Given the description of an element on the screen output the (x, y) to click on. 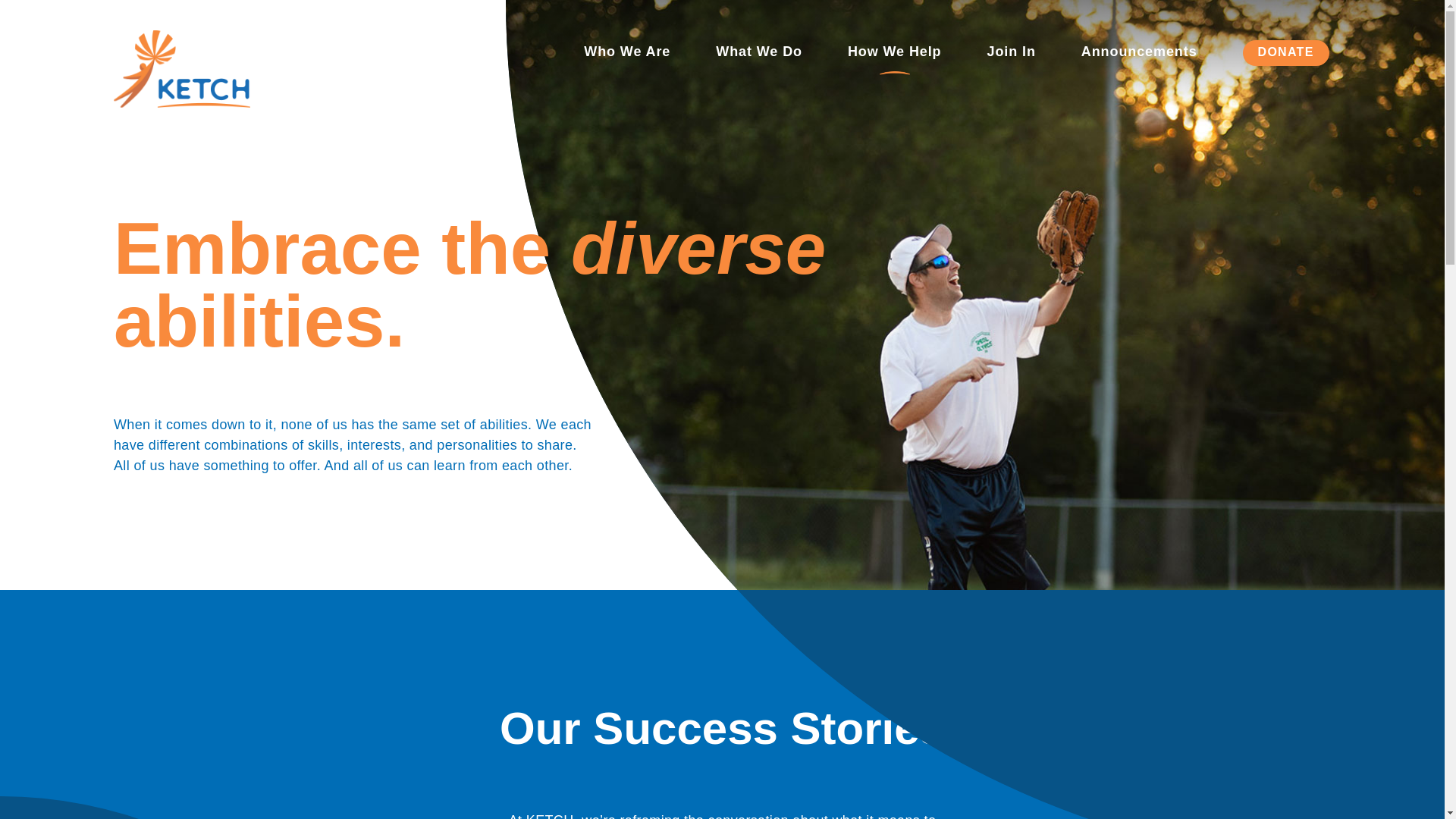
How We Help (894, 52)
Announcements (1139, 52)
Who We Are (626, 52)
What We Do (759, 52)
Join In (1010, 52)
DONATE (1286, 52)
